Given the description of an element on the screen output the (x, y) to click on. 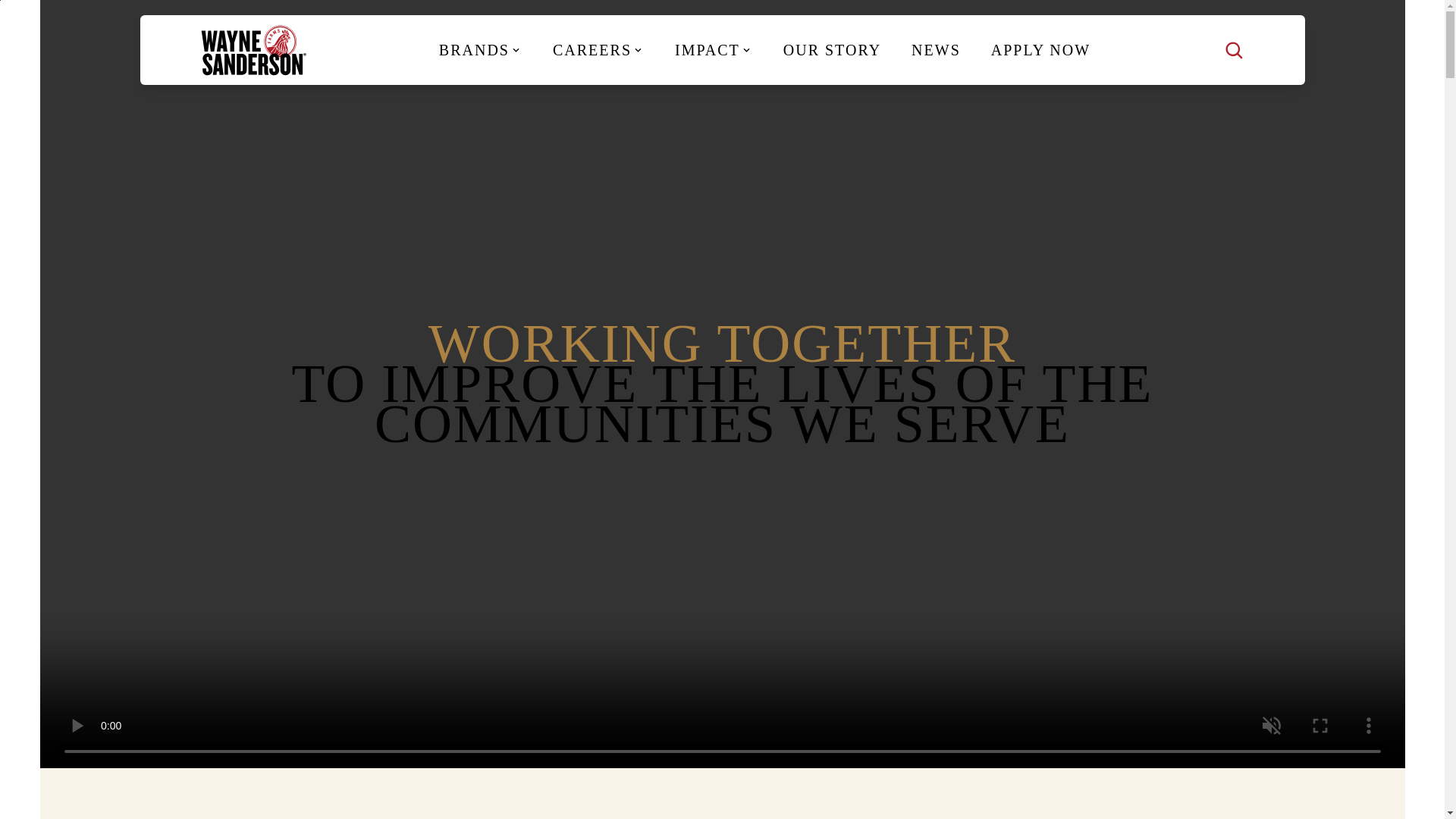
BRANDS (480, 50)
IMPACT (713, 50)
NEWS (935, 50)
APPLY NOW (1040, 50)
OUR STORY (832, 50)
CAREERS (598, 50)
